Given the description of an element on the screen output the (x, y) to click on. 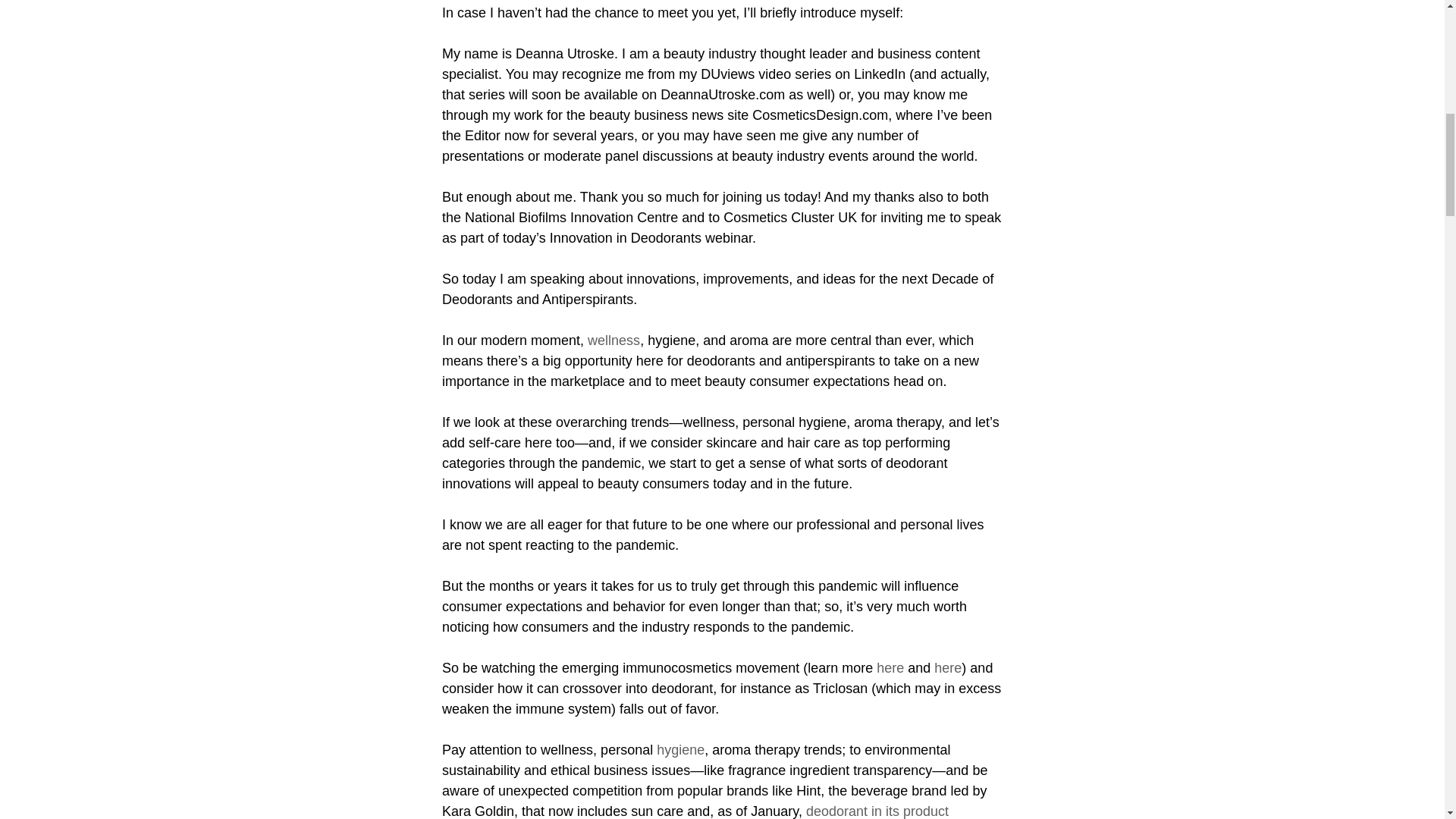
here (890, 667)
deodorant in its product portfolio (696, 811)
wellness (614, 339)
here (947, 667)
hygiene (680, 749)
